Given the description of an element on the screen output the (x, y) to click on. 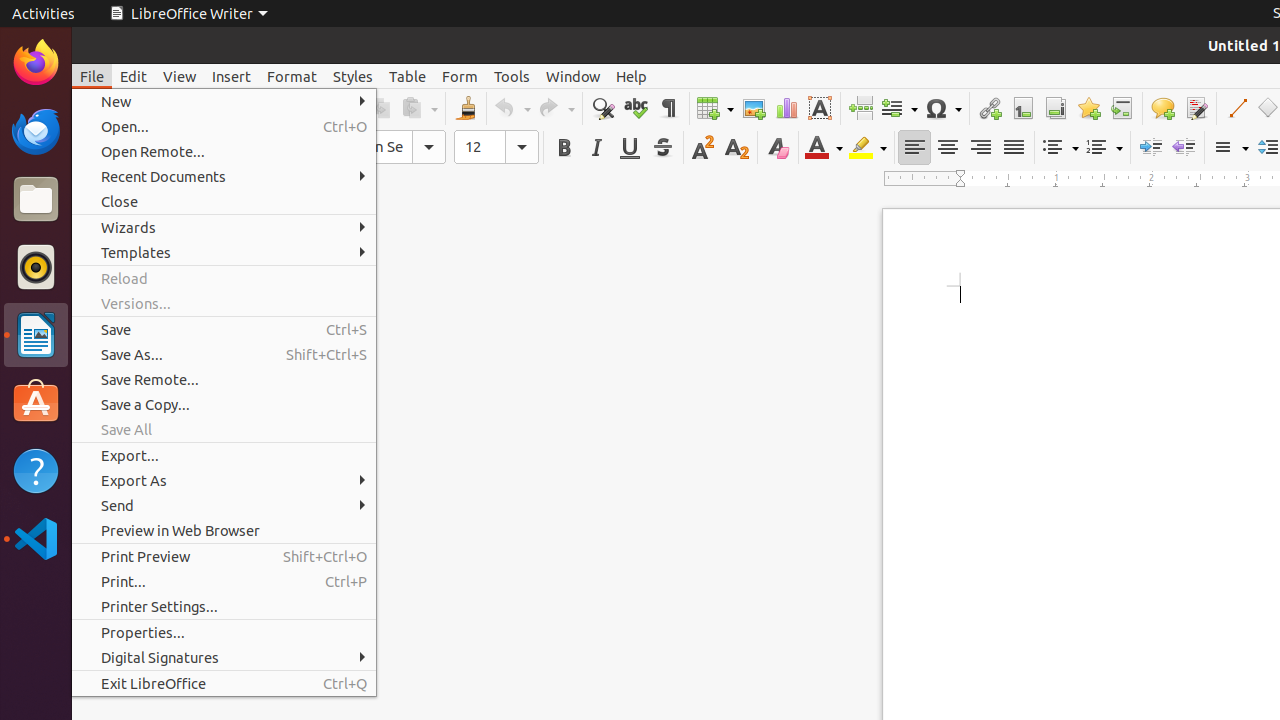
View Element type: menu (179, 76)
Superscript Element type: toggle-button (703, 147)
Clone Element type: push-button (465, 108)
Printer Settings... Element type: menu-item (224, 606)
Right Element type: toggle-button (980, 147)
